Given the description of an element on the screen output the (x, y) to click on. 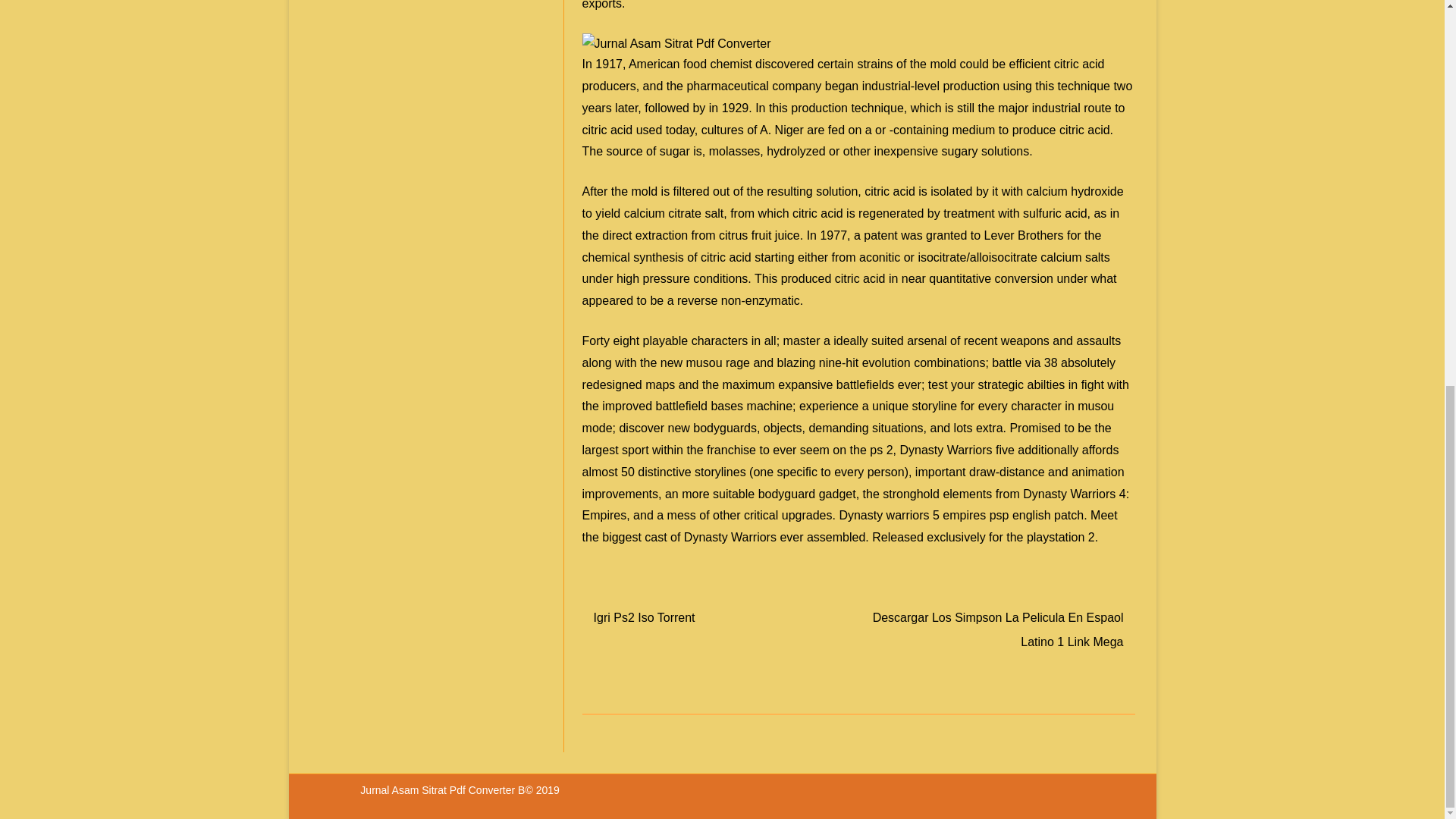
Dynasty warriors 5 empires psp english patch (960, 514)
Jurnal Asam Sitrat Pdf Converter (676, 43)
Igri Ps2 Iso Torrent (644, 617)
Jurnal Asam Sitrat Pdf Converter (438, 789)
